Given the description of an element on the screen output the (x, y) to click on. 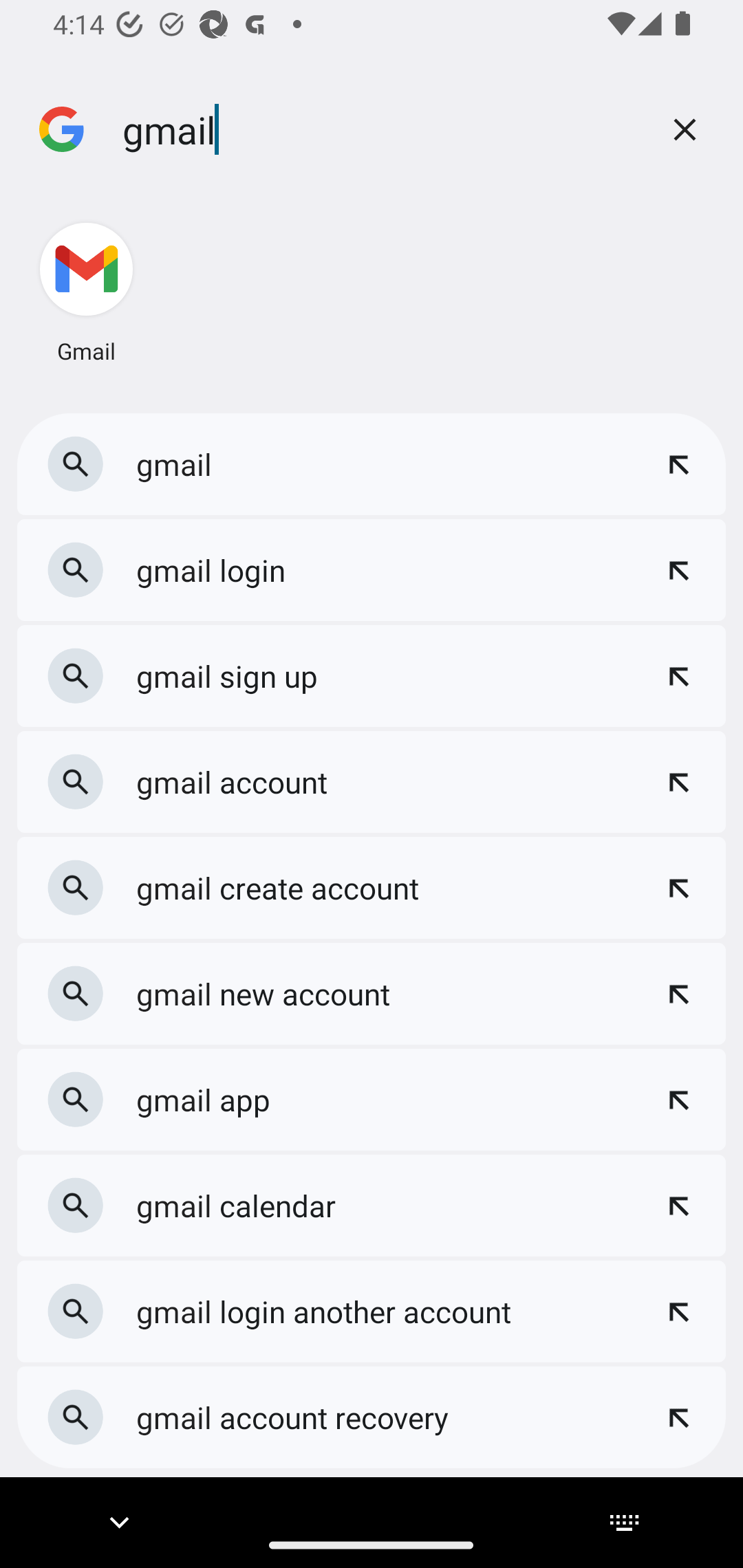
gmail (379, 129)
Clear search box (685, 128)
Gmail (85, 291)
Show predictions for gmail (678, 463)
Show predictions for gmail login (678, 570)
Show predictions for gmail sign up (678, 675)
Show predictions for gmail account (678, 781)
Show predictions for gmail create account (678, 887)
Show predictions for gmail new account (678, 993)
Show predictions for gmail app (678, 1098)
Show predictions for gmail calendar (678, 1205)
Show predictions for gmail login another account (678, 1310)
Show predictions for gmail account recovery (678, 1417)
